Given the description of an element on the screen output the (x, y) to click on. 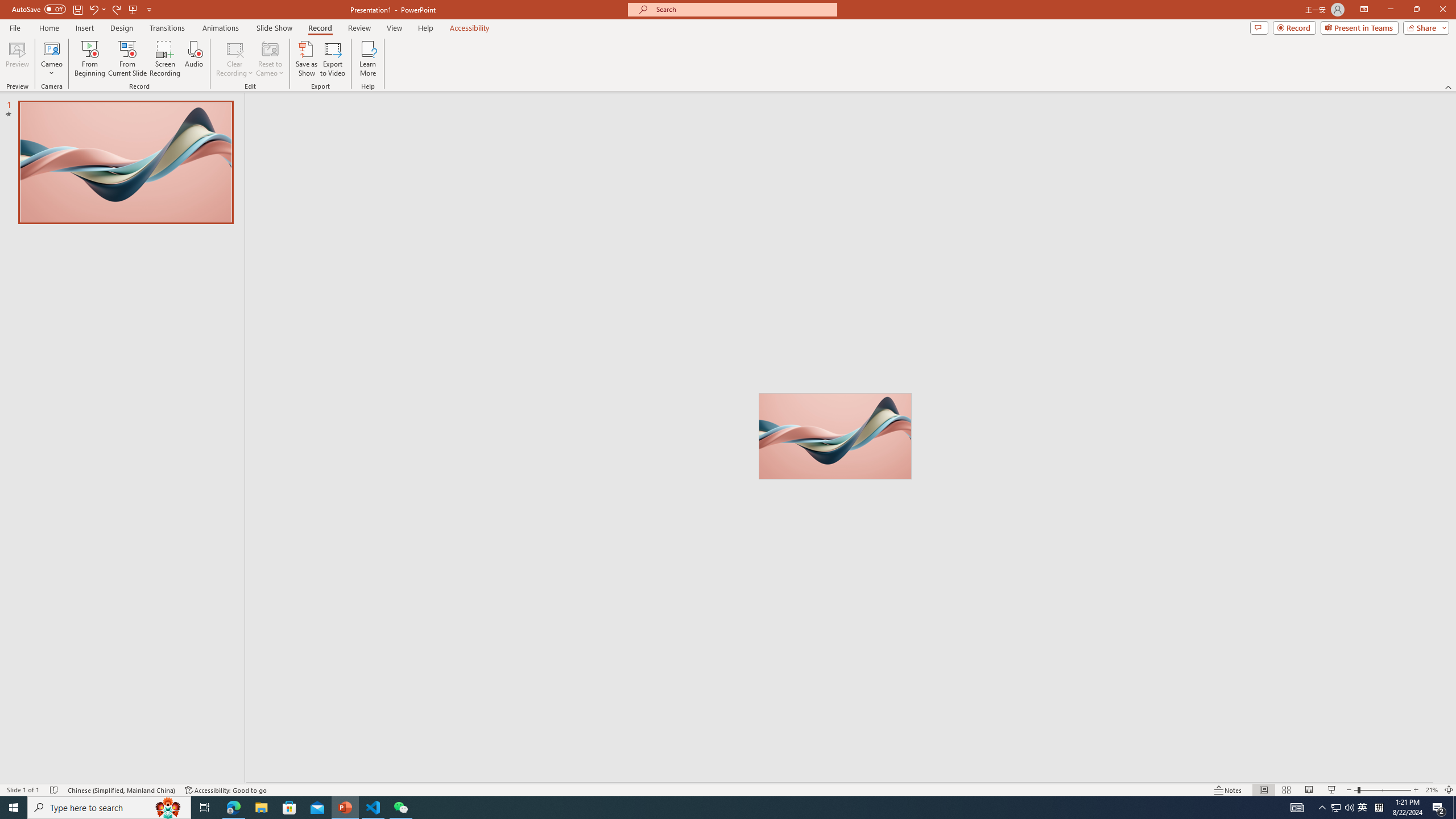
Cameo (51, 48)
Audio (193, 58)
